Given the description of an element on the screen output the (x, y) to click on. 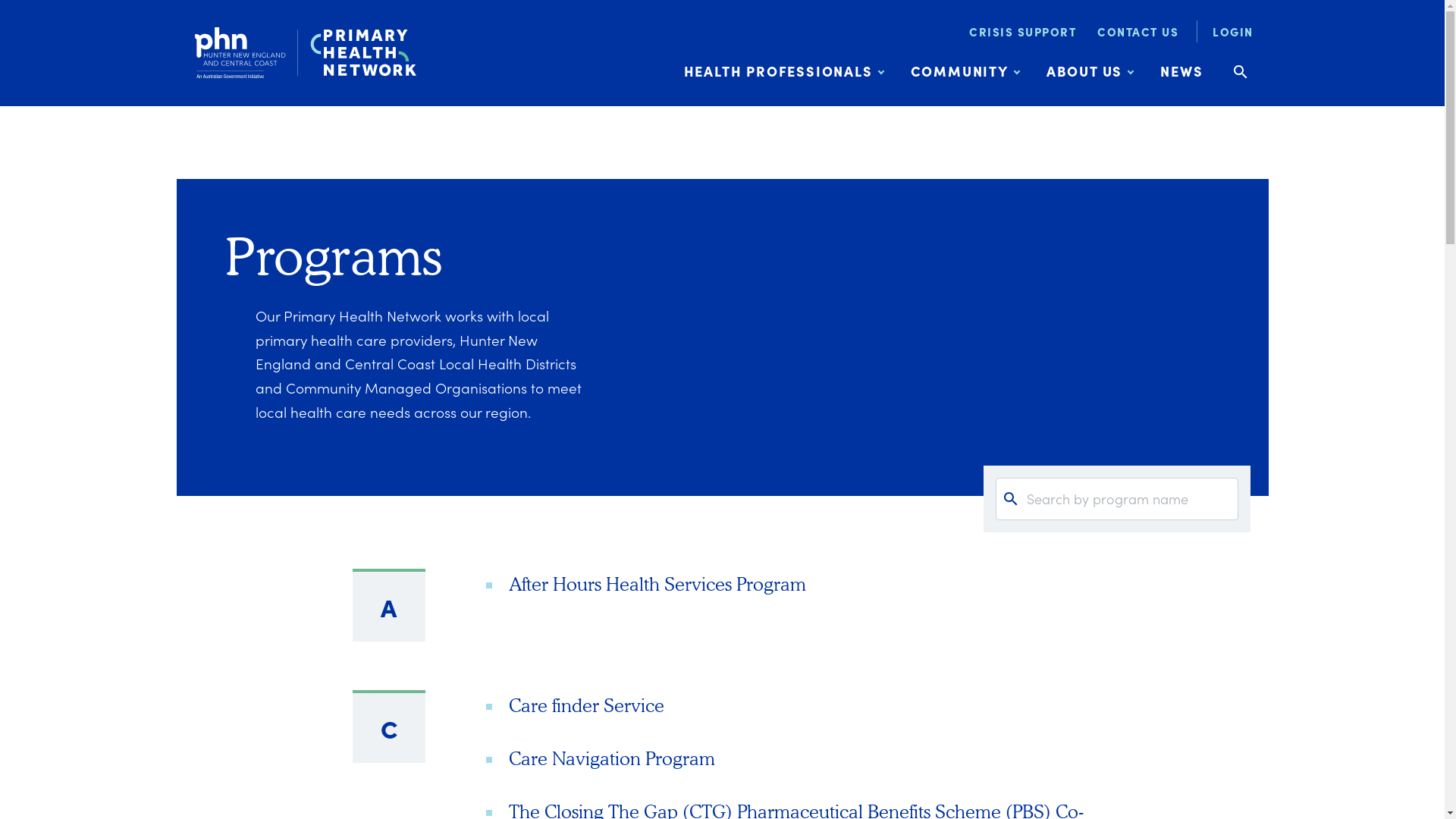
LOGIN Element type: text (1226, 31)
After Hours Health Services Program Element type: text (656, 583)
NEWS Element type: text (1181, 70)
ABOUT US Element type: text (1089, 70)
Primary Health Network Homepage Element type: text (304, 53)
Care finder Service Element type: text (585, 704)
Care Navigation Program Element type: text (611, 757)
CRISIS SUPPORT Element type: text (1022, 31)
COMMUNITY Element type: text (964, 70)
CONTACT US Element type: text (1137, 31)
HEALTH PROFESSIONALS Element type: text (783, 70)
